Given the description of an element on the screen output the (x, y) to click on. 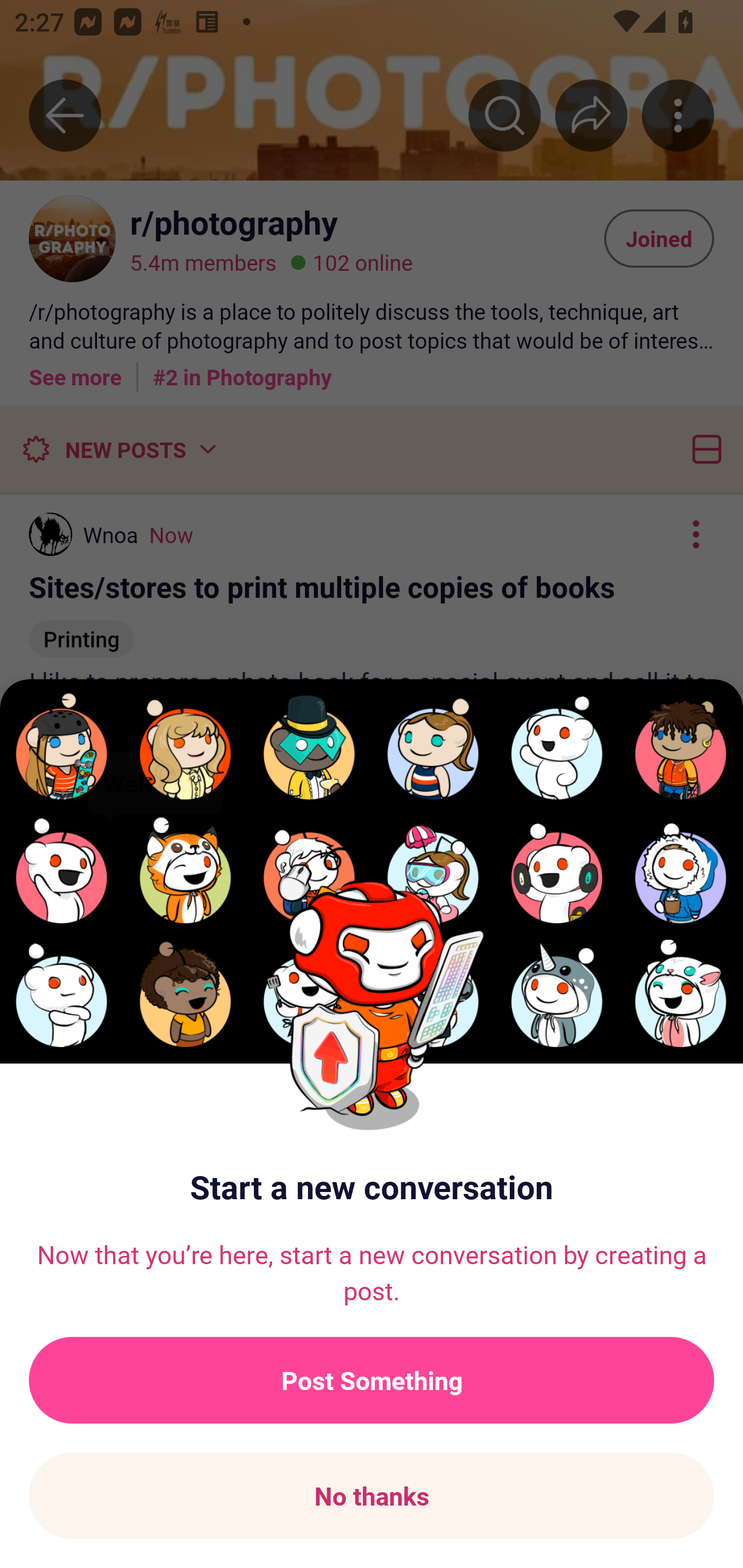
Post Something (371, 1380)
No thanks (371, 1495)
